Given the description of an element on the screen output the (x, y) to click on. 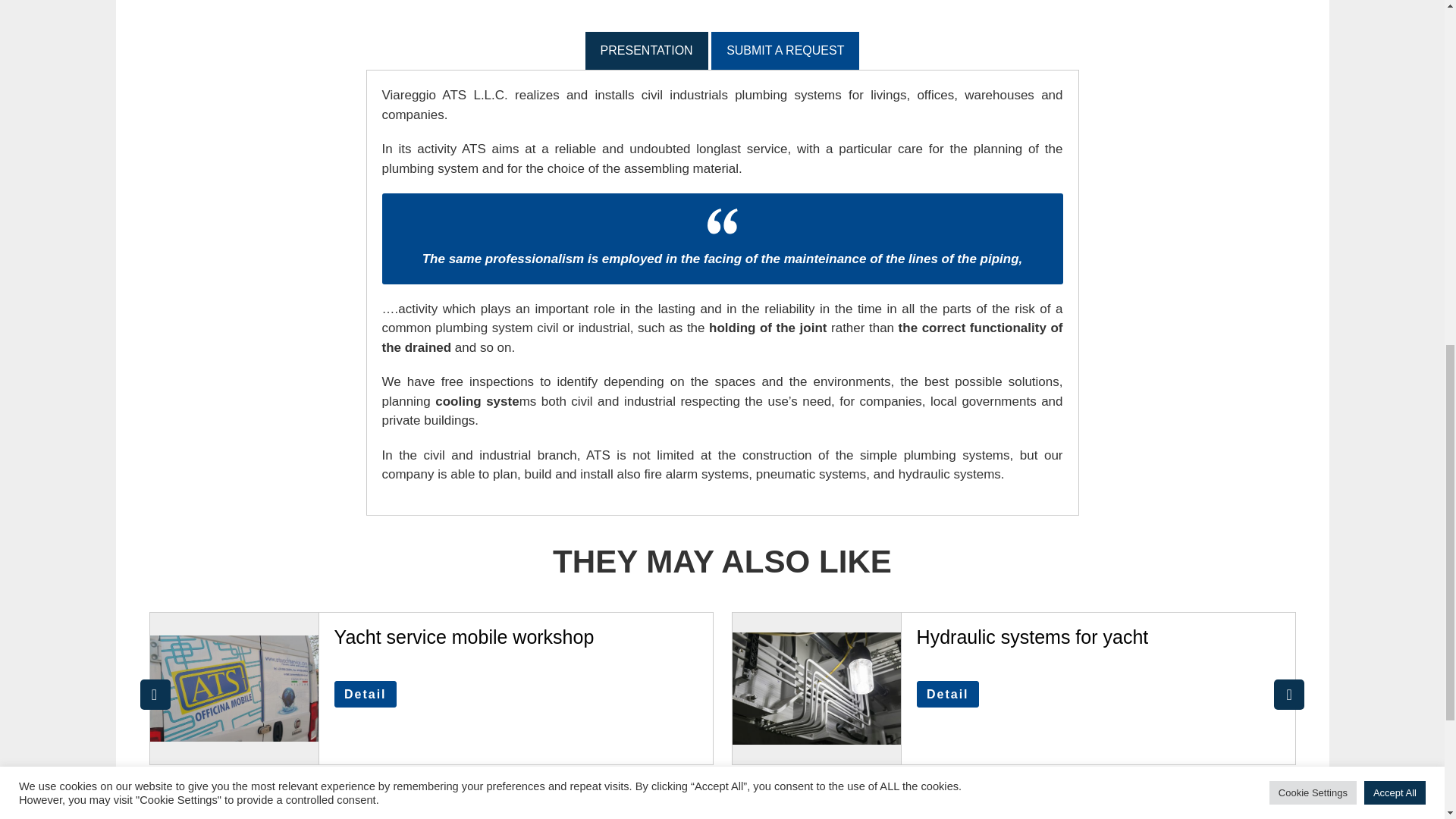
PRESENTATION (646, 50)
Hydraulic systems for yacht (1032, 636)
Detail (947, 693)
Hydraulic systems for yacht (1032, 636)
SUBMIT A REQUEST (785, 50)
Detail (365, 693)
Yacht service mobile workshop (464, 636)
Yacht service mobile workshop (464, 636)
